Given the description of an element on the screen output the (x, y) to click on. 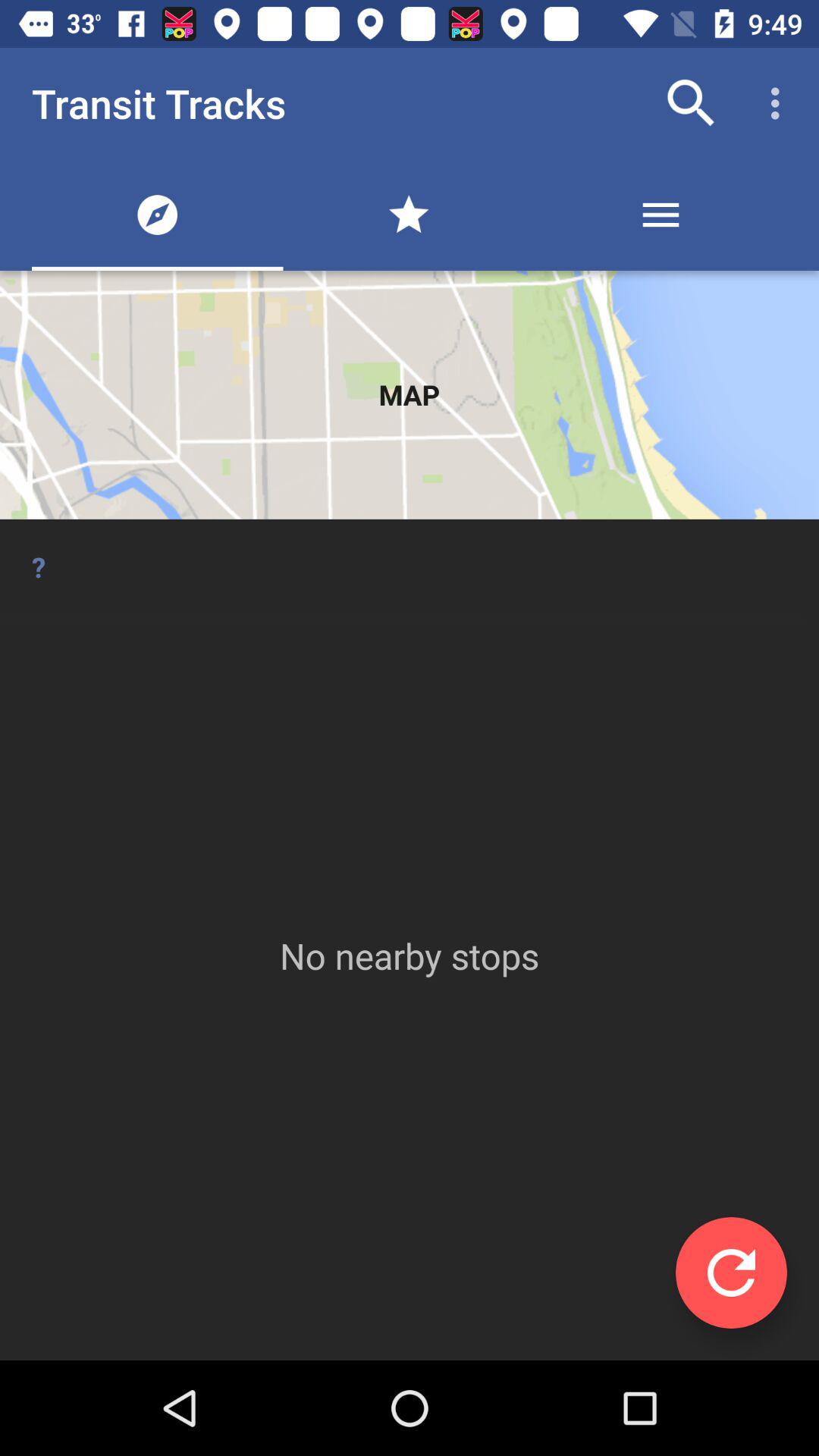
choose the first icon below transit tracks (156, 214)
click on the menu icon (660, 214)
